Given the description of an element on the screen output the (x, y) to click on. 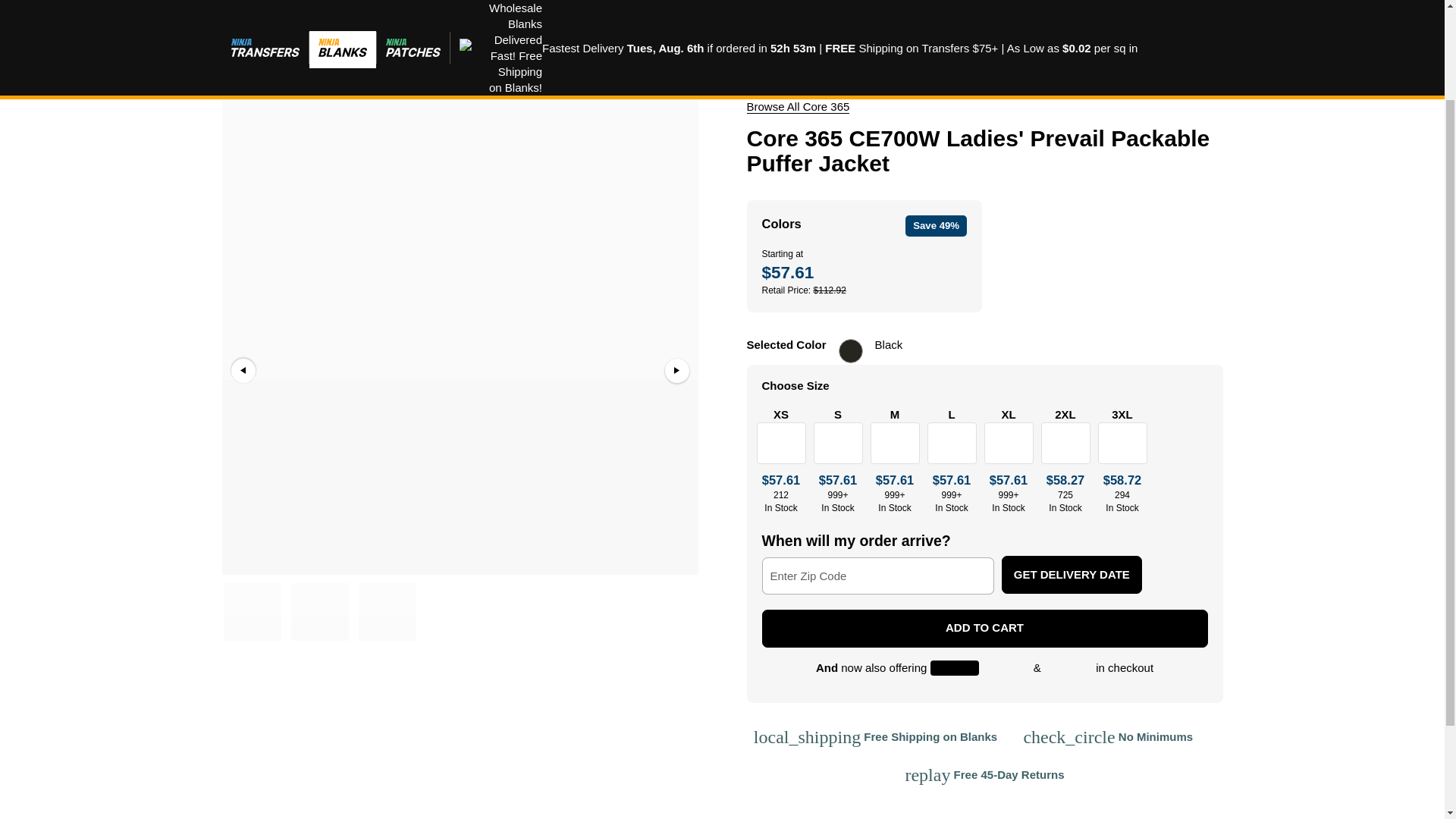
Core 365 (1048, 26)
Open cart (796, 106)
Open cart (934, 26)
888-356-3665 (1211, 26)
Ninja Transfers (1211, 26)
